Given the description of an element on the screen output the (x, y) to click on. 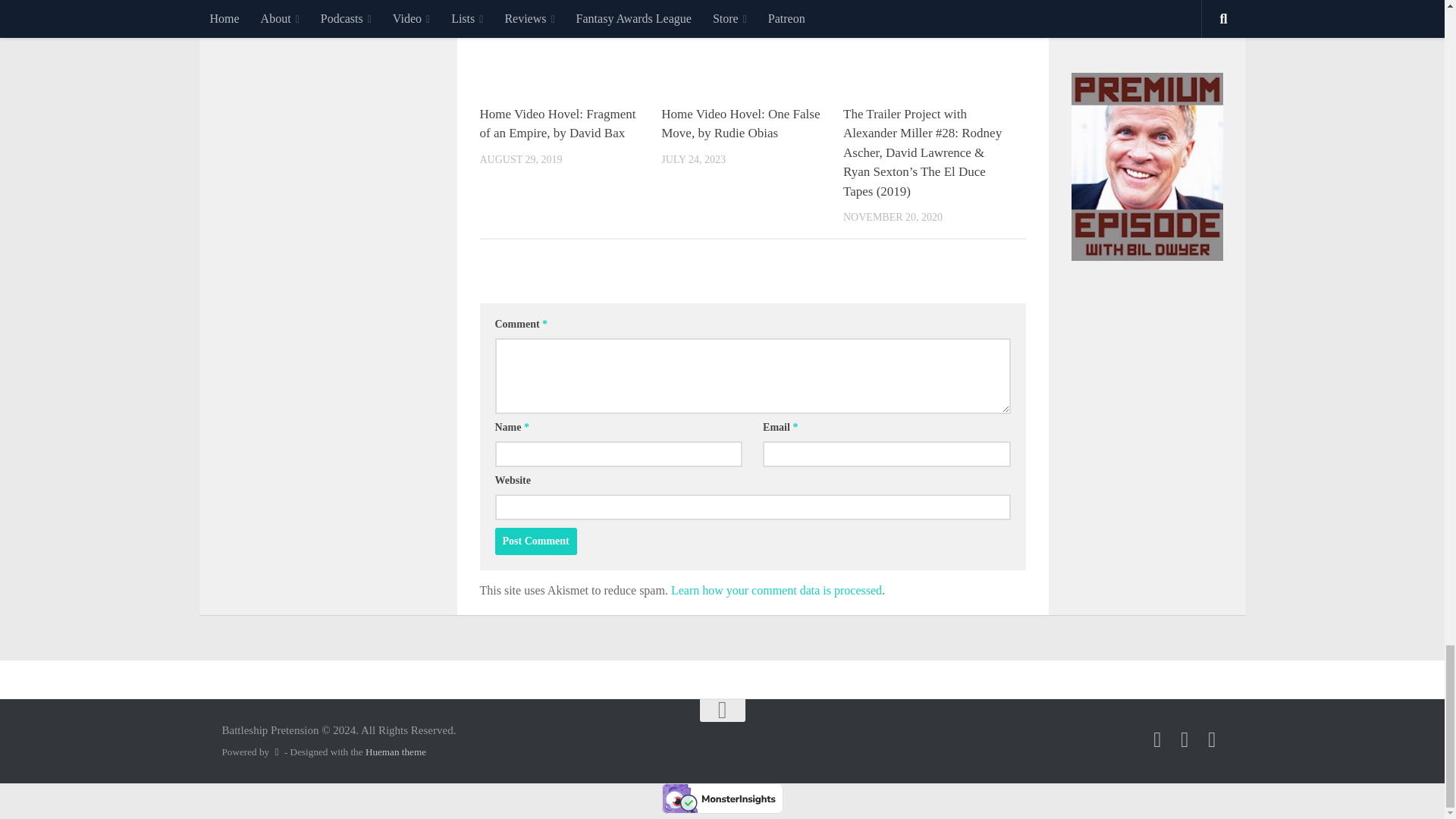
Post Comment (535, 541)
